Given the description of an element on the screen output the (x, y) to click on. 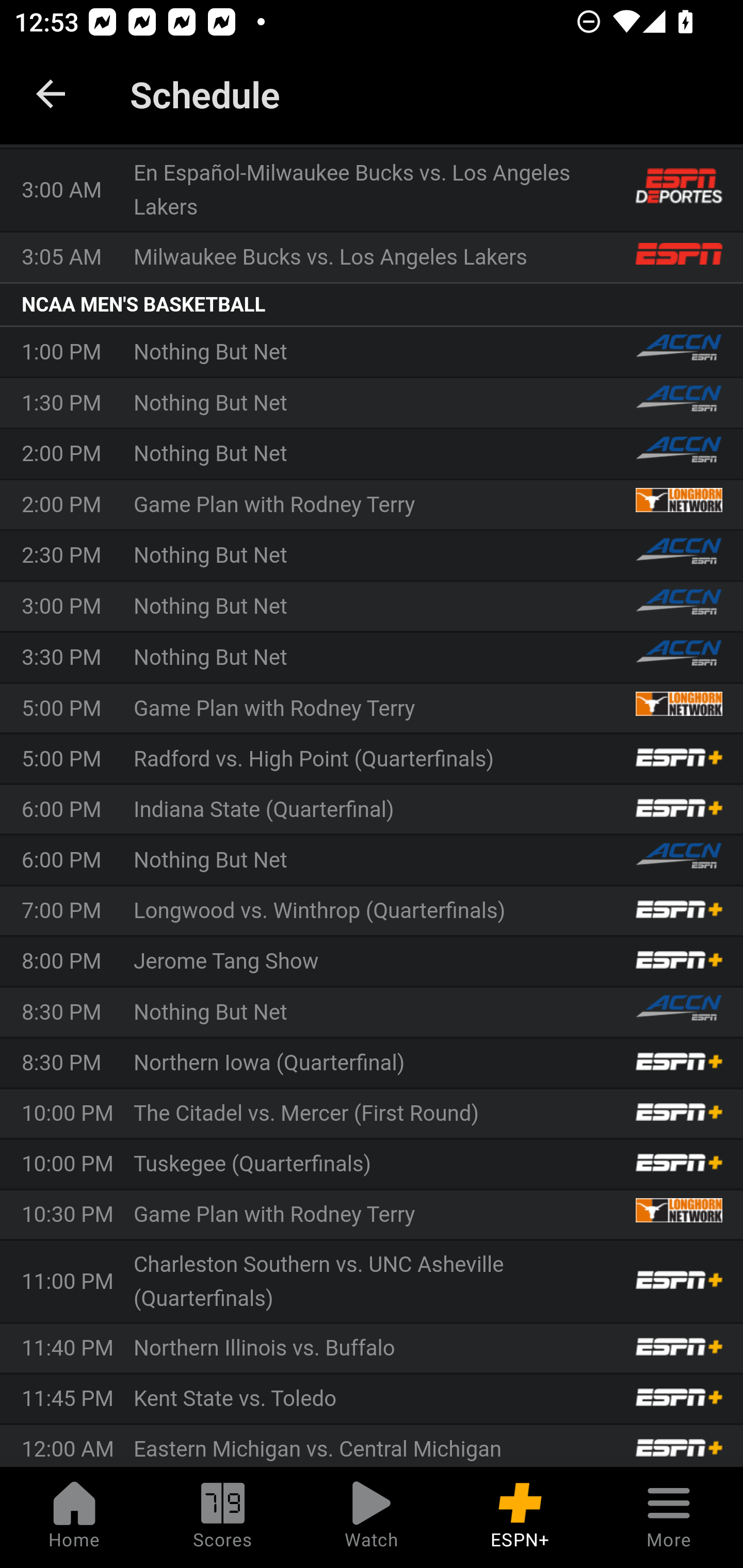
back.button (50, 93)
Home (74, 1517)
Scores (222, 1517)
Watch (371, 1517)
More (668, 1517)
